Given the description of an element on the screen output the (x, y) to click on. 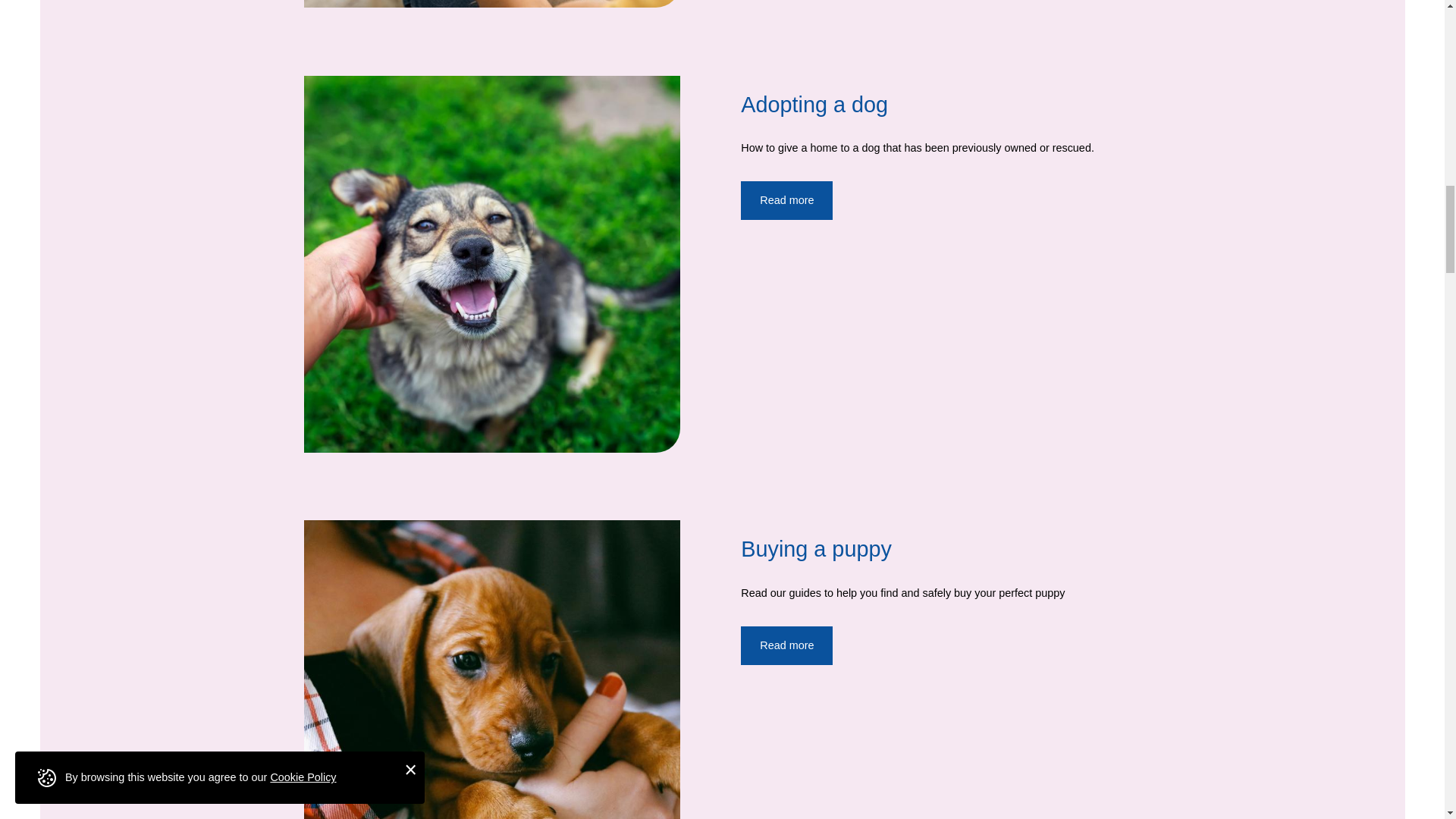
Read more (786, 200)
Read more (786, 645)
Buying a puppy (786, 645)
How to adopt a dog (786, 200)
